Given the description of an element on the screen output the (x, y) to click on. 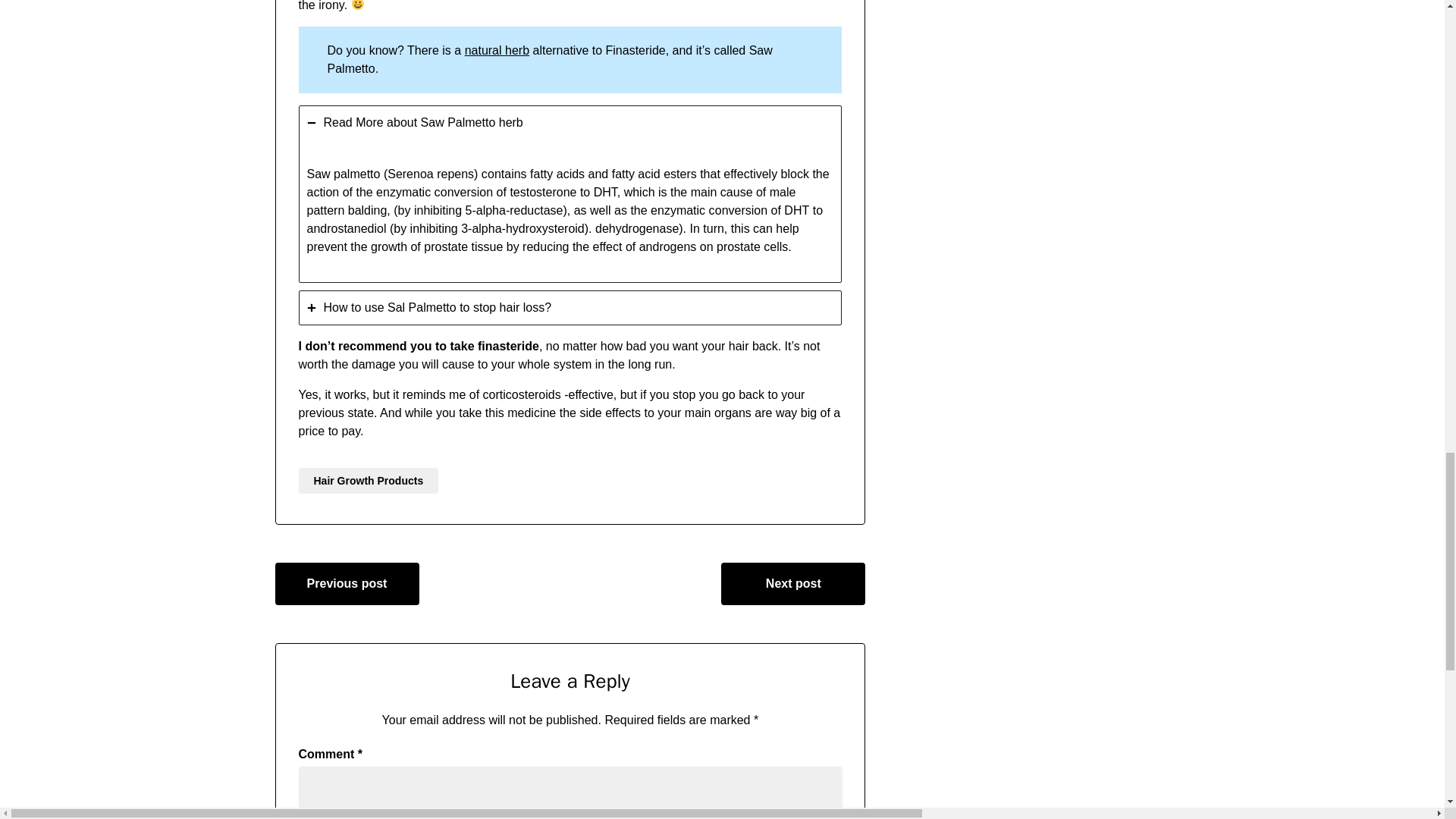
natural herb (496, 50)
Previous post (347, 583)
Next post (792, 583)
Hair Growth Products (368, 480)
